Given the description of an element on the screen output the (x, y) to click on. 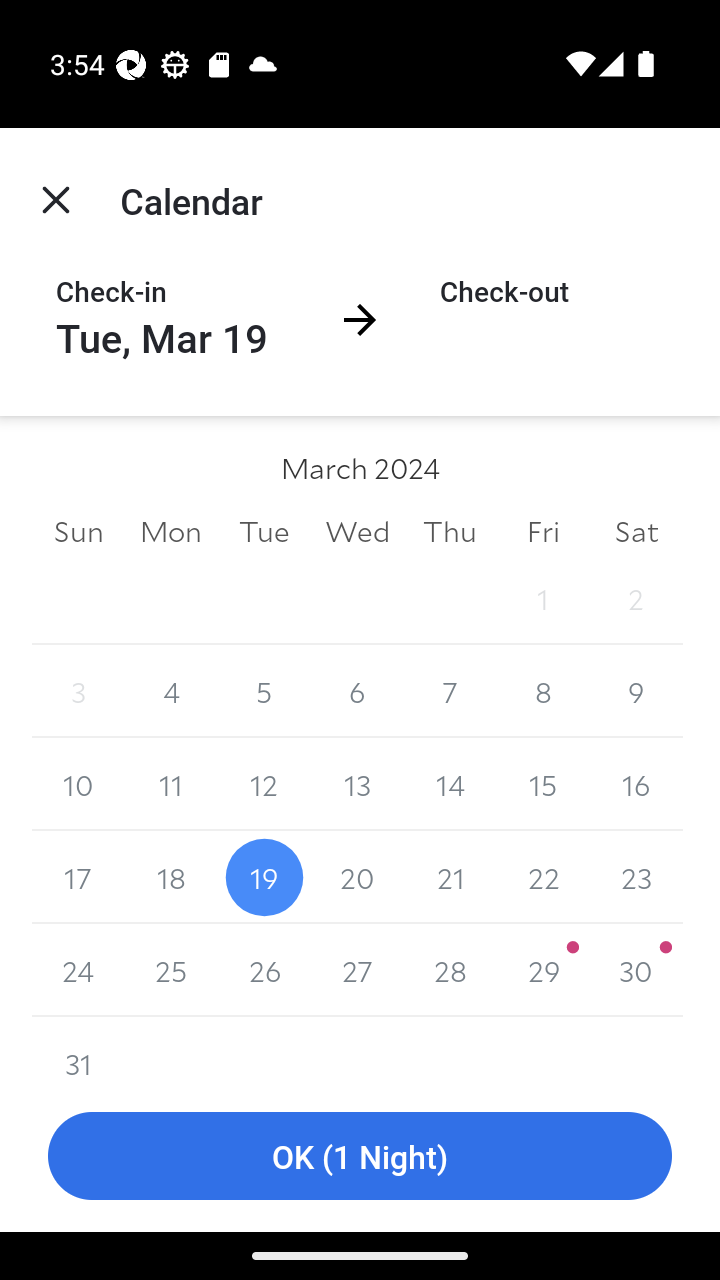
Sun (78, 530)
Mon (171, 530)
Tue (264, 530)
Wed (357, 530)
Thu (449, 530)
Fri (542, 530)
Sat (636, 530)
1 1 March 2024 (542, 598)
2 2 March 2024 (636, 598)
3 3 March 2024 (78, 691)
4 4 March 2024 (171, 691)
5 5 March 2024 (264, 691)
6 6 March 2024 (357, 691)
7 7 March 2024 (449, 691)
8 8 March 2024 (542, 691)
9 9 March 2024 (636, 691)
10 10 March 2024 (78, 784)
11 11 March 2024 (171, 784)
12 12 March 2024 (264, 784)
13 13 March 2024 (357, 784)
14 14 March 2024 (449, 784)
15 15 March 2024 (542, 784)
16 16 March 2024 (636, 784)
17 17 March 2024 (78, 877)
18 18 March 2024 (171, 877)
19 19 March 2024 (264, 877)
20 20 March 2024 (357, 877)
21 21 March 2024 (449, 877)
22 22 March 2024 (542, 877)
23 23 March 2024 (636, 877)
24 24 March 2024 (78, 970)
25 25 March 2024 (171, 970)
26 26 March 2024 (264, 970)
27 27 March 2024 (357, 970)
28 28 March 2024 (449, 970)
29 29 March 2024 (542, 970)
30 30 March 2024 (636, 970)
31 31 March 2024 (78, 1048)
OK (1 Night) (359, 1156)
